Given the description of an element on the screen output the (x, y) to click on. 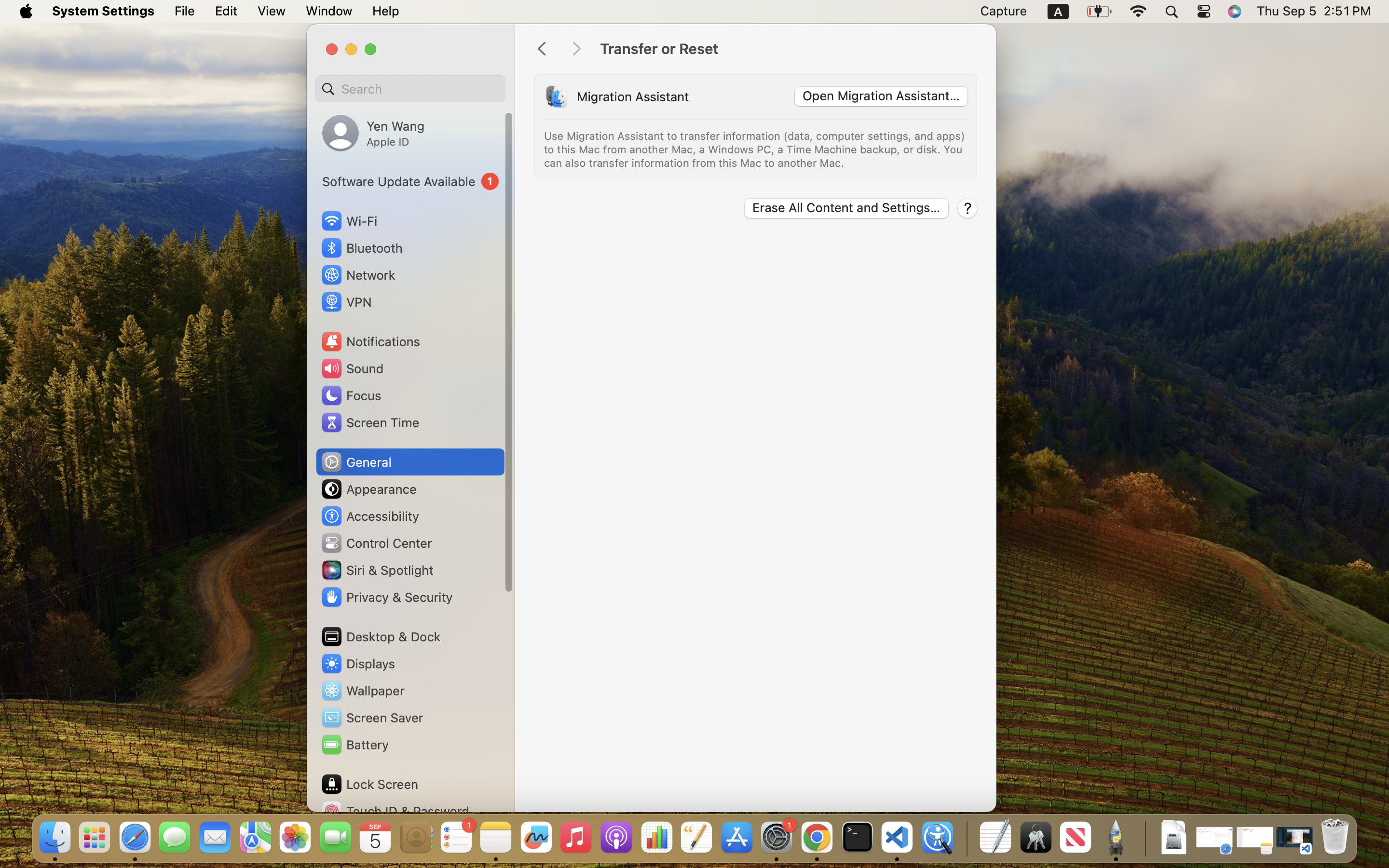
Accessibility Element type: AXStaticText (369, 515)
Privacy & Security Element type: AXStaticText (386, 596)
Network Element type: AXStaticText (357, 274)
VPN Element type: AXStaticText (345, 301)
Sound Element type: AXStaticText (351, 367)
